Given the description of an element on the screen output the (x, y) to click on. 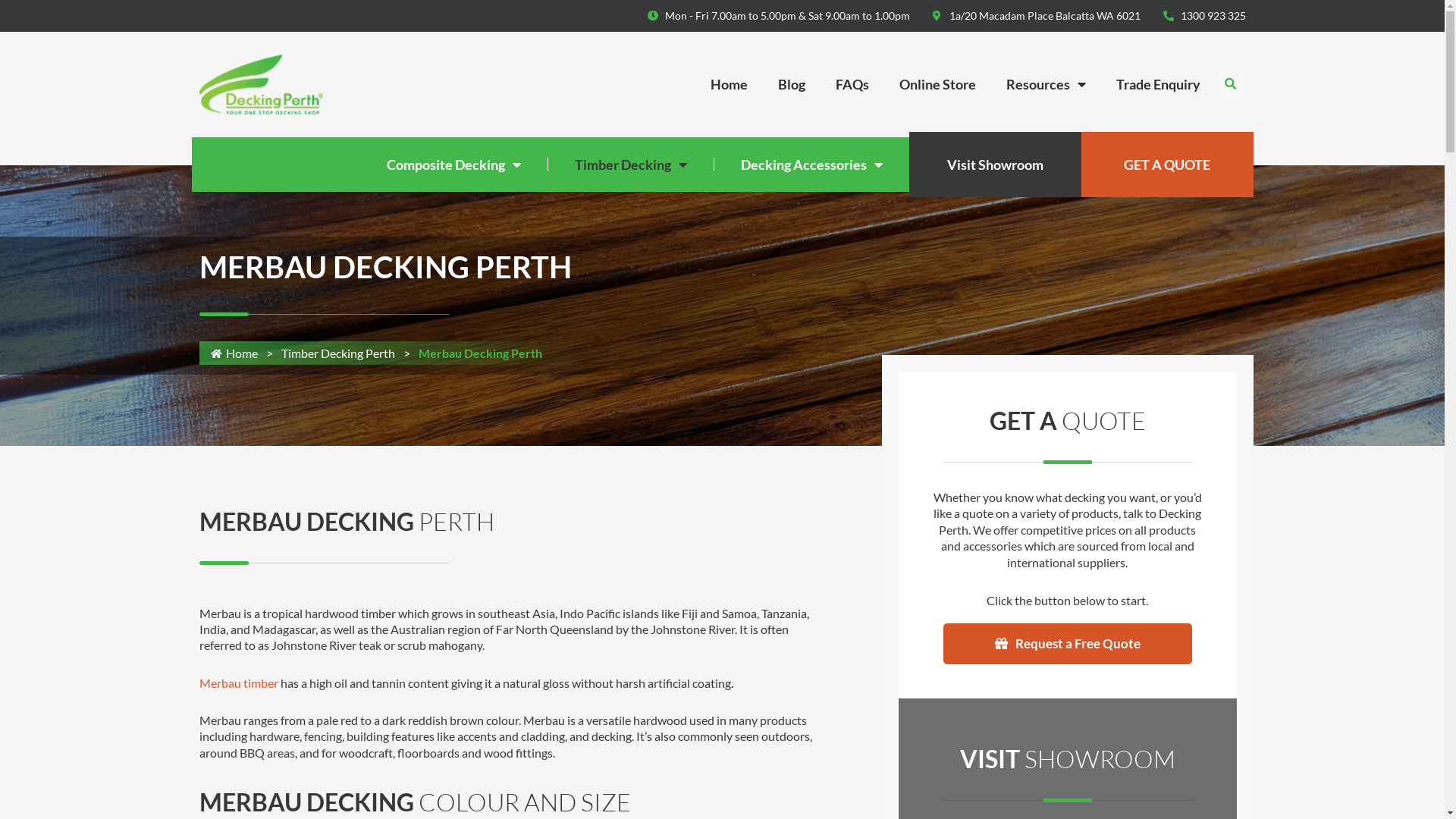
Visit Showroom Element type: text (994, 164)
Timber Decking Perth Element type: text (337, 352)
Timber Decking Element type: text (629, 164)
1a/20 Macadam Place Balcatta WA 6021 Element type: text (1036, 15)
Decking Accessories Element type: text (811, 164)
Merbau timber Element type: text (237, 682)
GET A QUOTE Element type: text (1167, 164)
Online Store Element type: text (937, 84)
Trade Enquiry Element type: text (1158, 84)
Request a Free Quote Element type: text (1067, 643)
1300 923 325 Element type: text (1204, 15)
Home Element type: text (233, 352)
Home Element type: text (727, 84)
FAQs Element type: text (852, 84)
Composite Decking Element type: text (452, 164)
Blog Element type: text (791, 84)
Resources Element type: text (1045, 84)
